Given the description of an element on the screen output the (x, y) to click on. 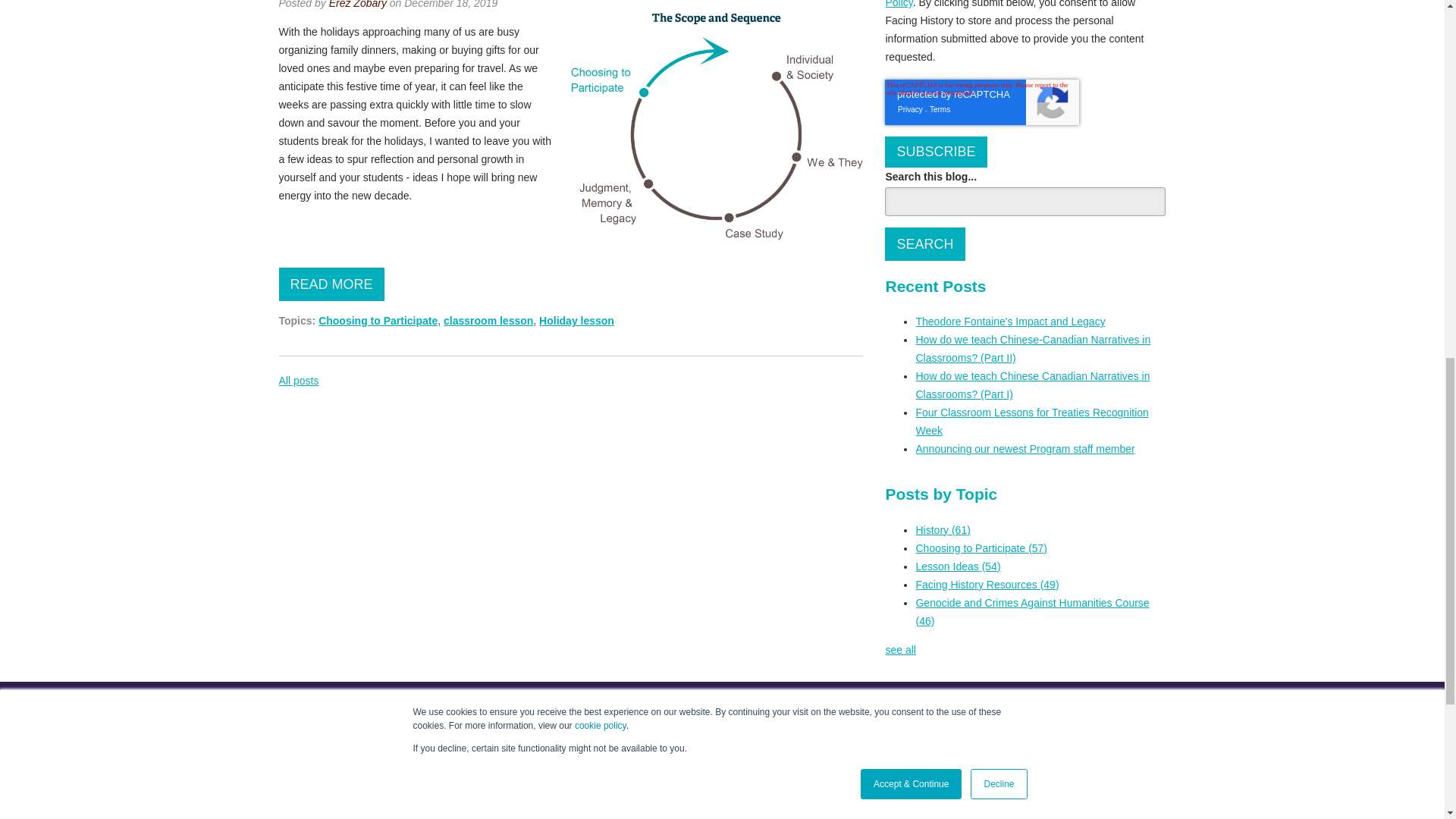
Announcing our newest Program staff member (1024, 449)
Four Classroom Lessons for Treaties Recognition Week (1031, 421)
Subscribe (936, 151)
Choosing to Participate (378, 320)
SEARCH (924, 244)
Theodore Fontaine's Impact and Legacy (1010, 321)
Subscribe (936, 151)
All posts (298, 380)
READ MORE (331, 284)
Privacy Policy (1012, 4)
classroom lesson (488, 320)
reCAPTCHA (981, 102)
Erez Zobary (358, 4)
Holiday lesson (576, 320)
